Given the description of an element on the screen output the (x, y) to click on. 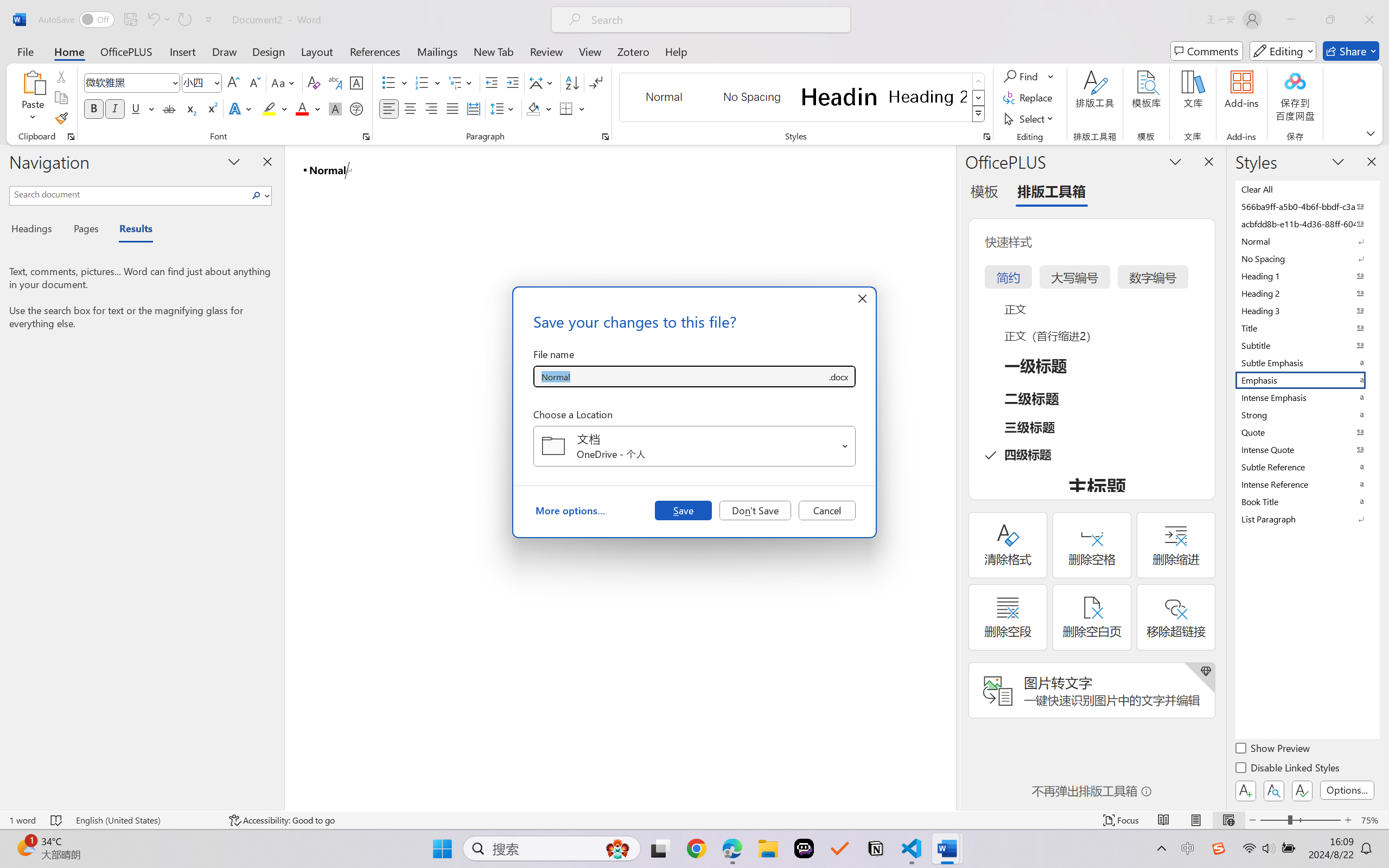
Sort... (571, 82)
Styles (978, 113)
Borders (566, 108)
Intense Emphasis (1306, 397)
Notion (875, 848)
AutoSave (76, 19)
Copy (60, 97)
Choose a Location (694, 446)
Shading RGB(0, 0, 0) (533, 108)
Language English (United States) (144, 819)
